Given the description of an element on the screen output the (x, y) to click on. 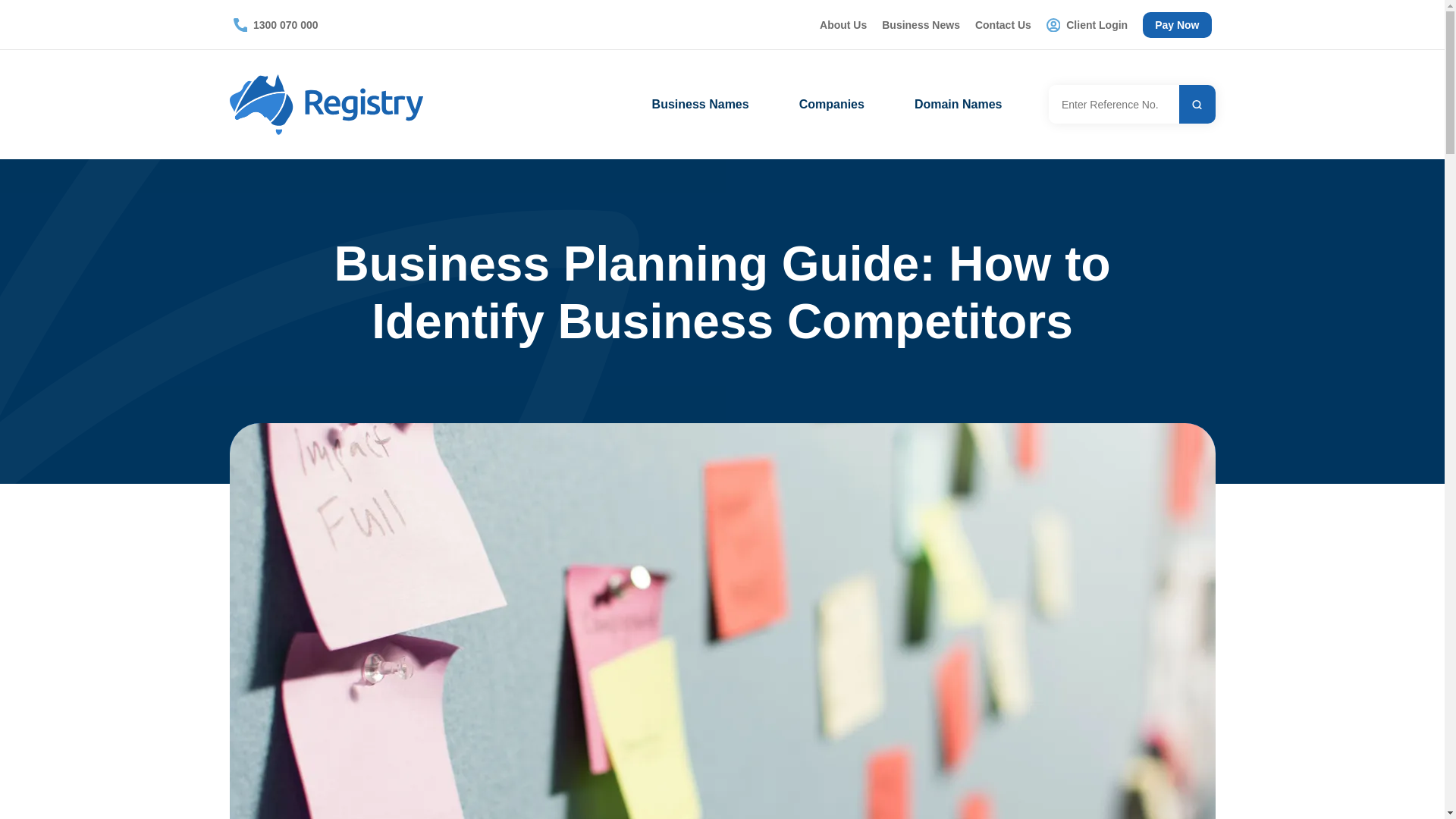
Business News (920, 24)
Domain Names (958, 104)
Link to Registry Australia (328, 104)
Companies (830, 104)
Client Login (1086, 24)
About Us (842, 24)
Pay Now (1176, 24)
Search (1196, 104)
Contact Us (1003, 24)
1300 070 000 (274, 24)
